Given the description of an element on the screen output the (x, y) to click on. 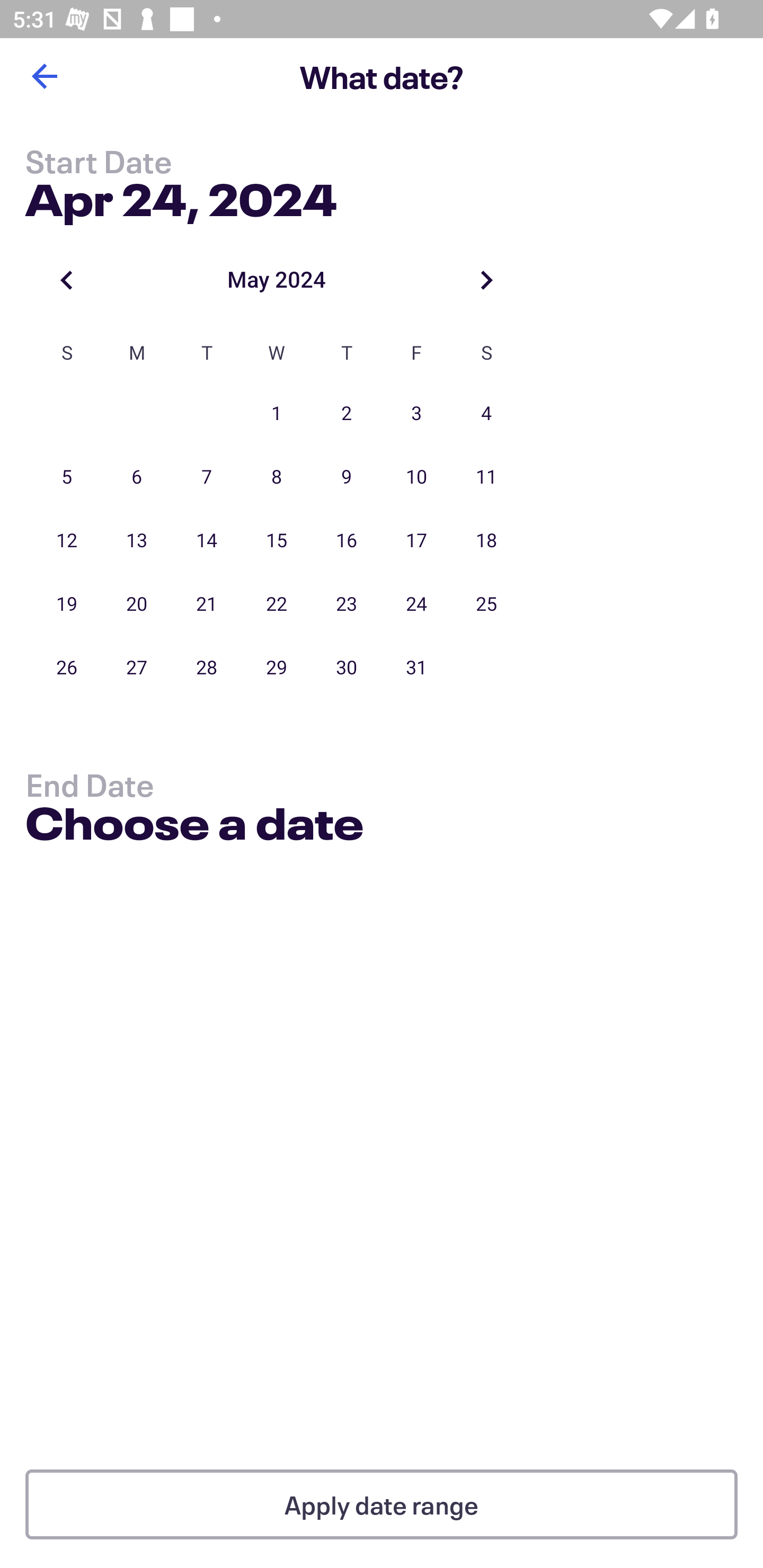
Back button (44, 75)
Apr 24, 2024 (181, 195)
Previous month (66, 279)
Next month (486, 279)
1 01 May 2024 (276, 413)
2 02 May 2024 (346, 413)
3 03 May 2024 (416, 413)
4 04 May 2024 (486, 413)
5 05 May 2024 (66, 477)
6 06 May 2024 (136, 477)
7 07 May 2024 (206, 477)
8 08 May 2024 (276, 477)
9 09 May 2024 (346, 477)
10 10 May 2024 (416, 477)
11 11 May 2024 (486, 477)
12 12 May 2024 (66, 540)
13 13 May 2024 (136, 540)
14 14 May 2024 (206, 540)
15 15 May 2024 (276, 540)
16 16 May 2024 (346, 540)
17 17 May 2024 (416, 540)
18 18 May 2024 (486, 540)
19 19 May 2024 (66, 604)
20 20 May 2024 (136, 604)
21 21 May 2024 (206, 604)
22 22 May 2024 (276, 604)
23 23 May 2024 (346, 604)
24 24 May 2024 (416, 604)
25 25 May 2024 (486, 604)
26 26 May 2024 (66, 667)
27 27 May 2024 (136, 667)
28 28 May 2024 (206, 667)
29 29 May 2024 (276, 667)
30 30 May 2024 (346, 667)
31 31 May 2024 (416, 667)
Choose a date (194, 826)
Apply date range (381, 1504)
